Given the description of an element on the screen output the (x, y) to click on. 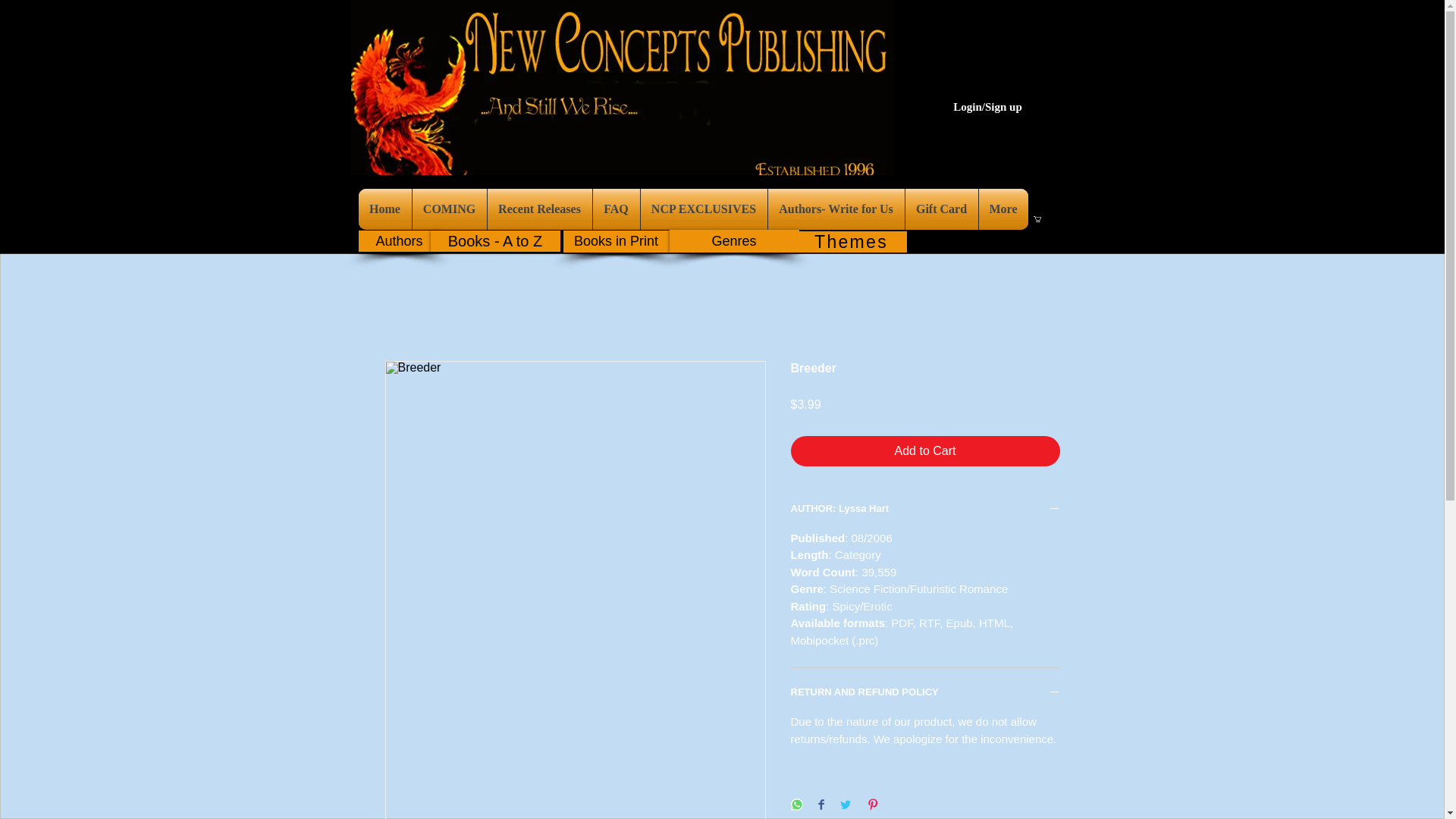
NewHeader.jpg (621, 87)
COMING (449, 209)
FAQ (616, 209)
Authors- Write for Us (835, 209)
NCP EXCLUSIVES (703, 209)
Gift Card (941, 209)
Home (384, 209)
Recent Releases (538, 209)
